Given the description of an element on the screen output the (x, y) to click on. 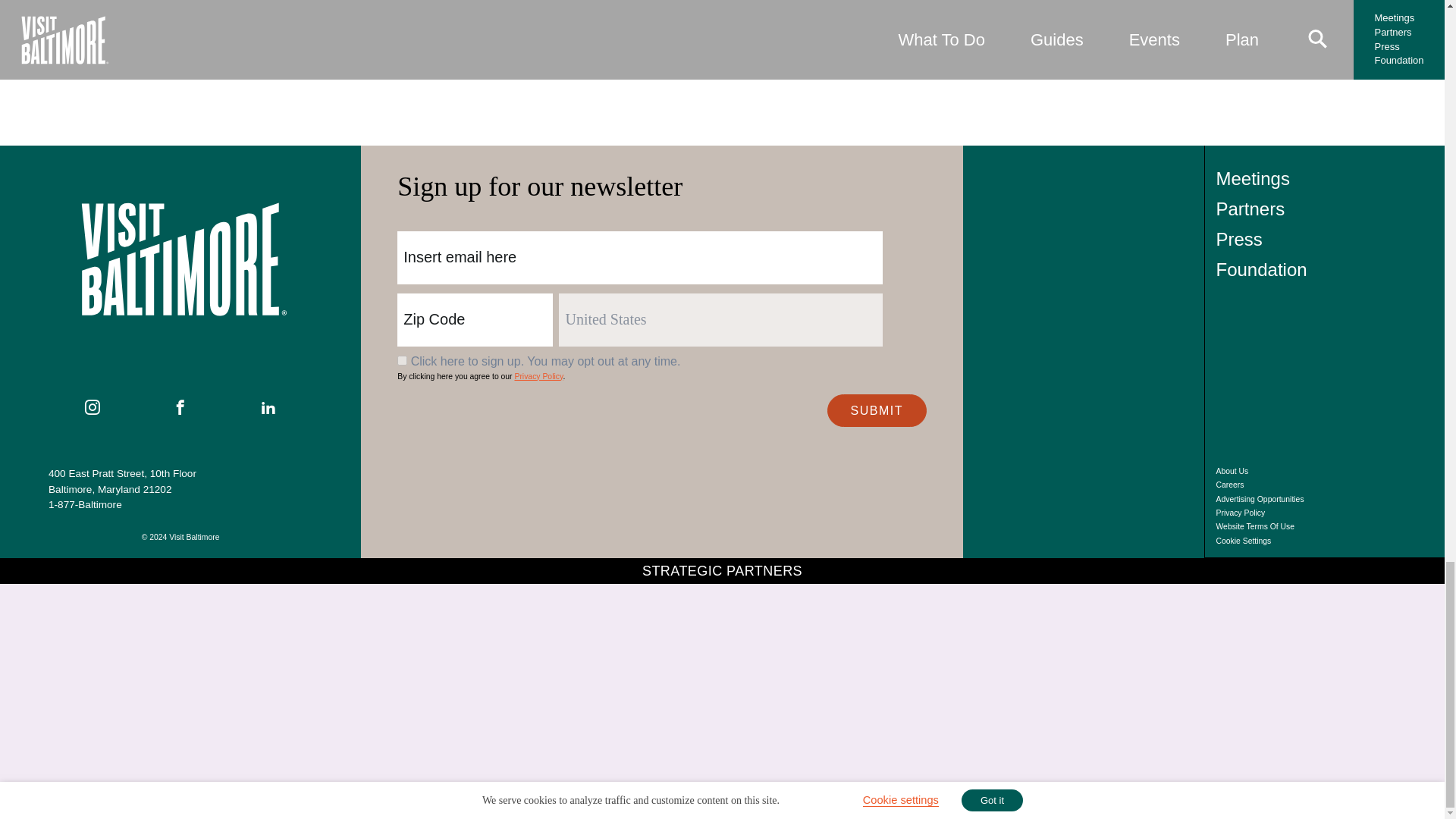
1 (402, 360)
